Given the description of an element on the screen output the (x, y) to click on. 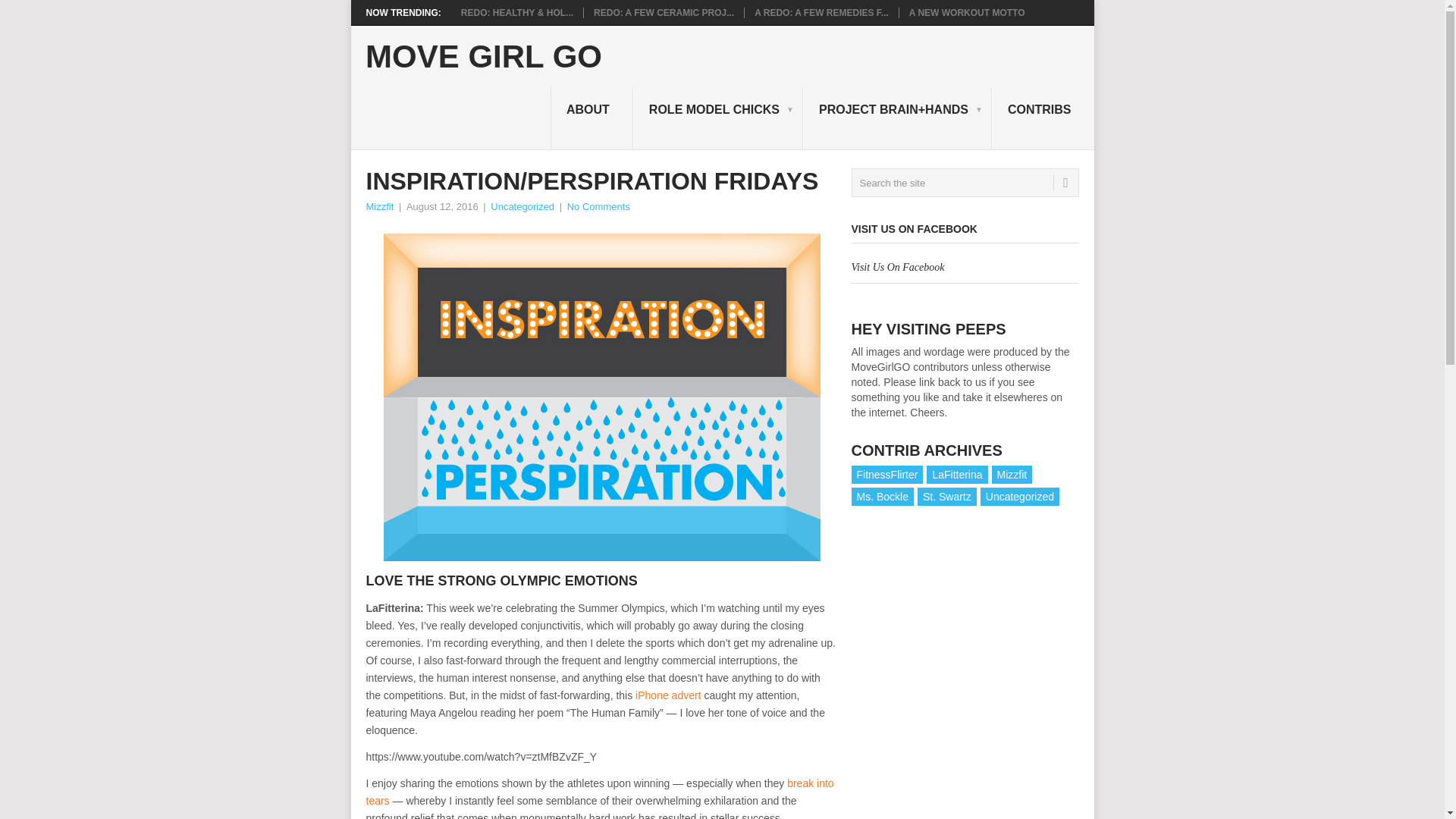
Redo: A Few Ceramic Projects (663, 12)
A New Workout Motto (966, 12)
iPhone advert (667, 695)
Posts by Mizzfit (379, 206)
break into tears (598, 791)
REDO: A FEW CERAMIC PROJ... (663, 12)
A NEW WORKOUT MOTTO (966, 12)
A REDO: A FEW REMEDIES F... (821, 12)
Visit Us On Facebook (896, 266)
CONTRIBS (1042, 118)
